Given the description of an element on the screen output the (x, y) to click on. 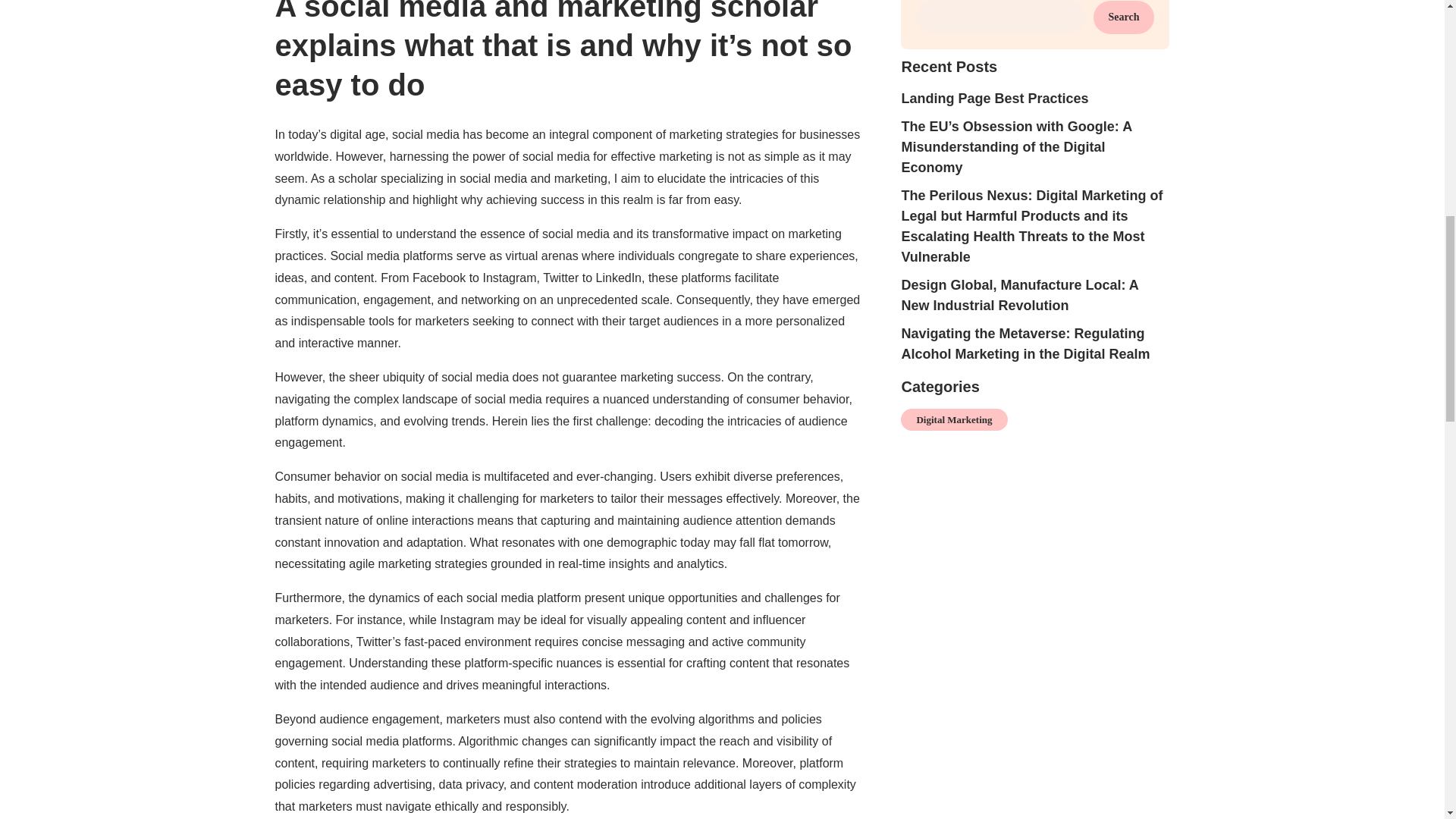
Landing Page Best Practices (994, 98)
Search (1123, 17)
Digital Marketing (954, 419)
